Given the description of an element on the screen output the (x, y) to click on. 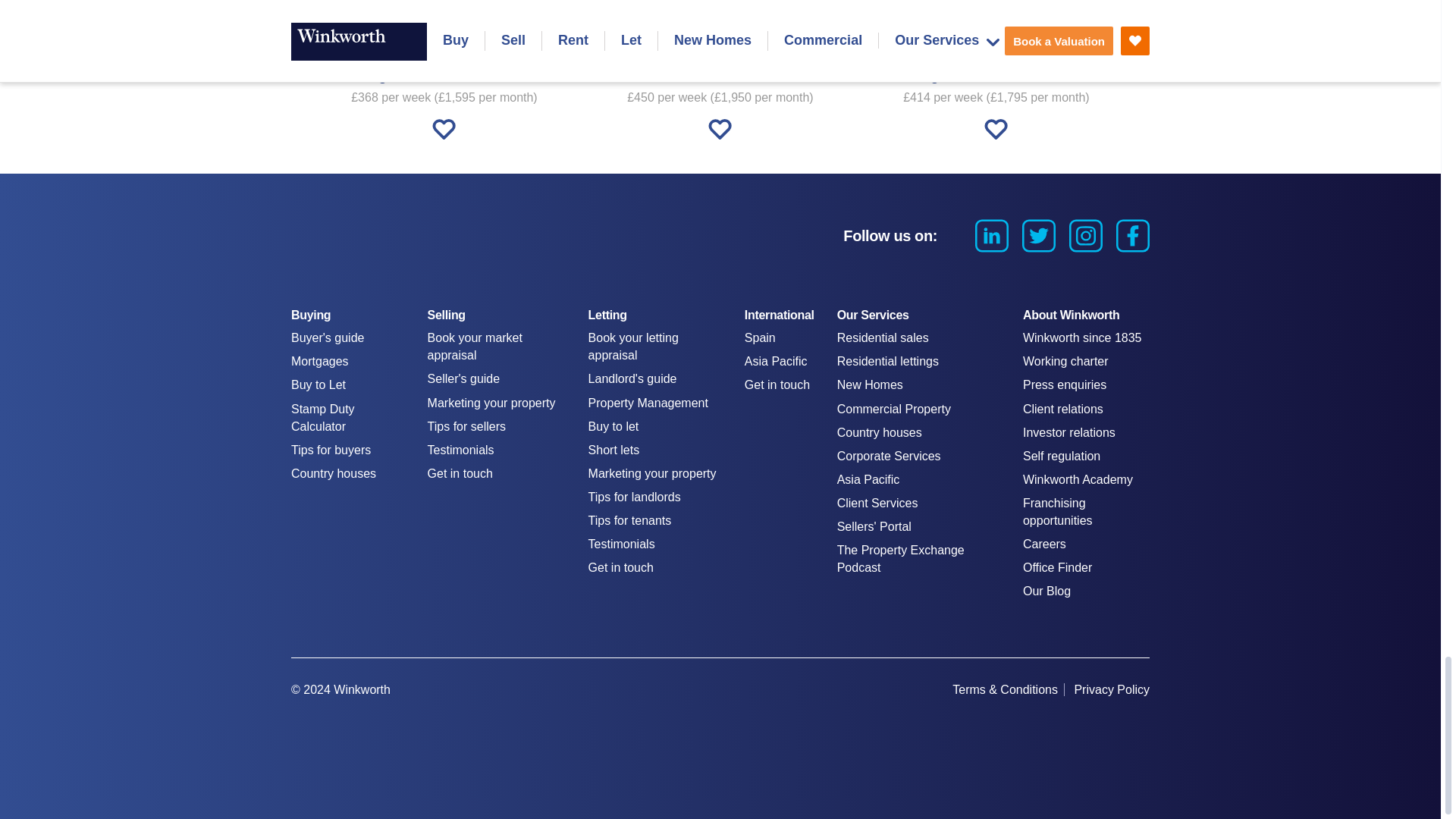
unrvld (1051, 723)
gtandi (1126, 723)
